Given the description of an element on the screen output the (x, y) to click on. 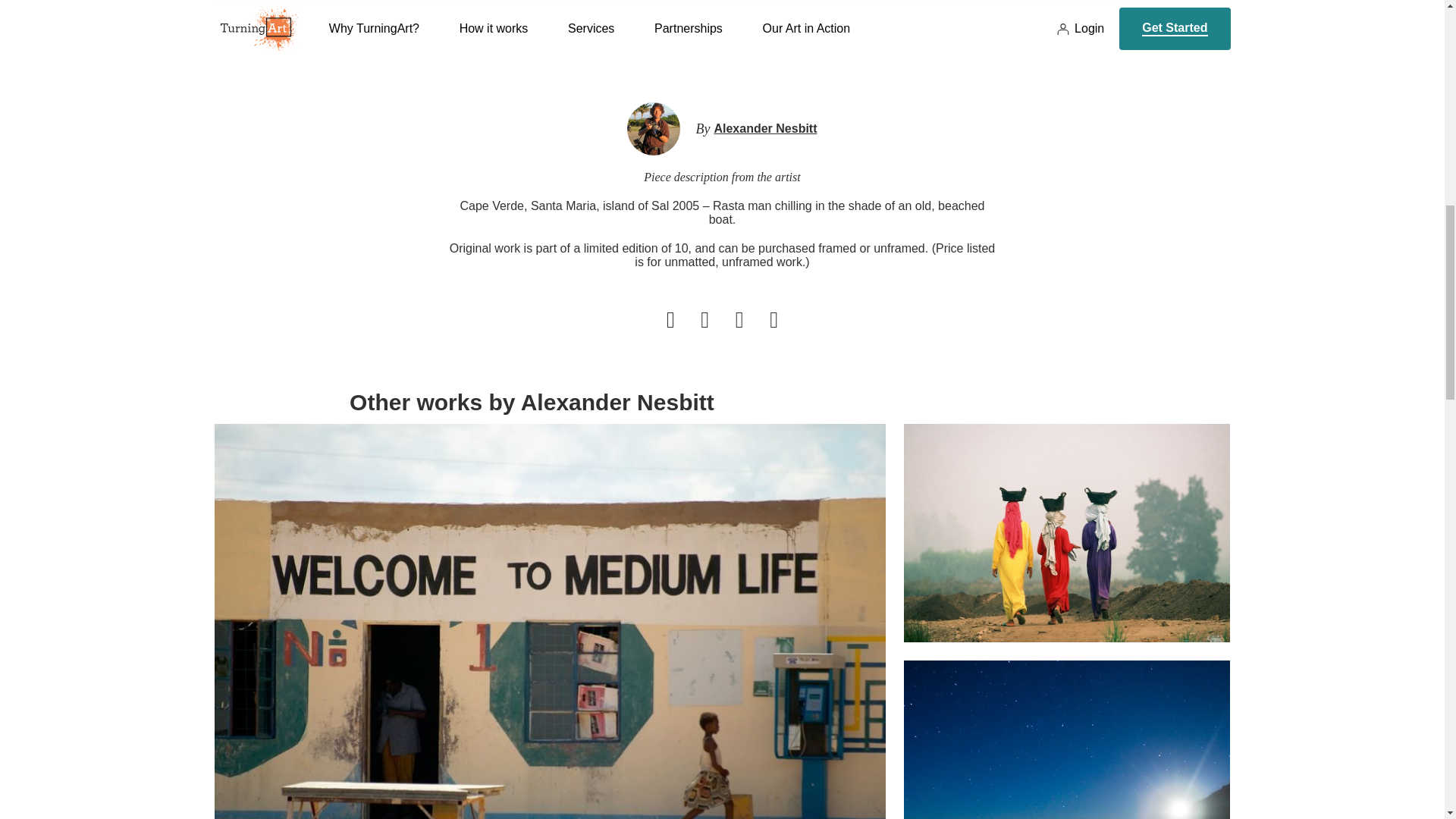
Alexander Nesbitt (764, 128)
